Given the description of an element on the screen output the (x, y) to click on. 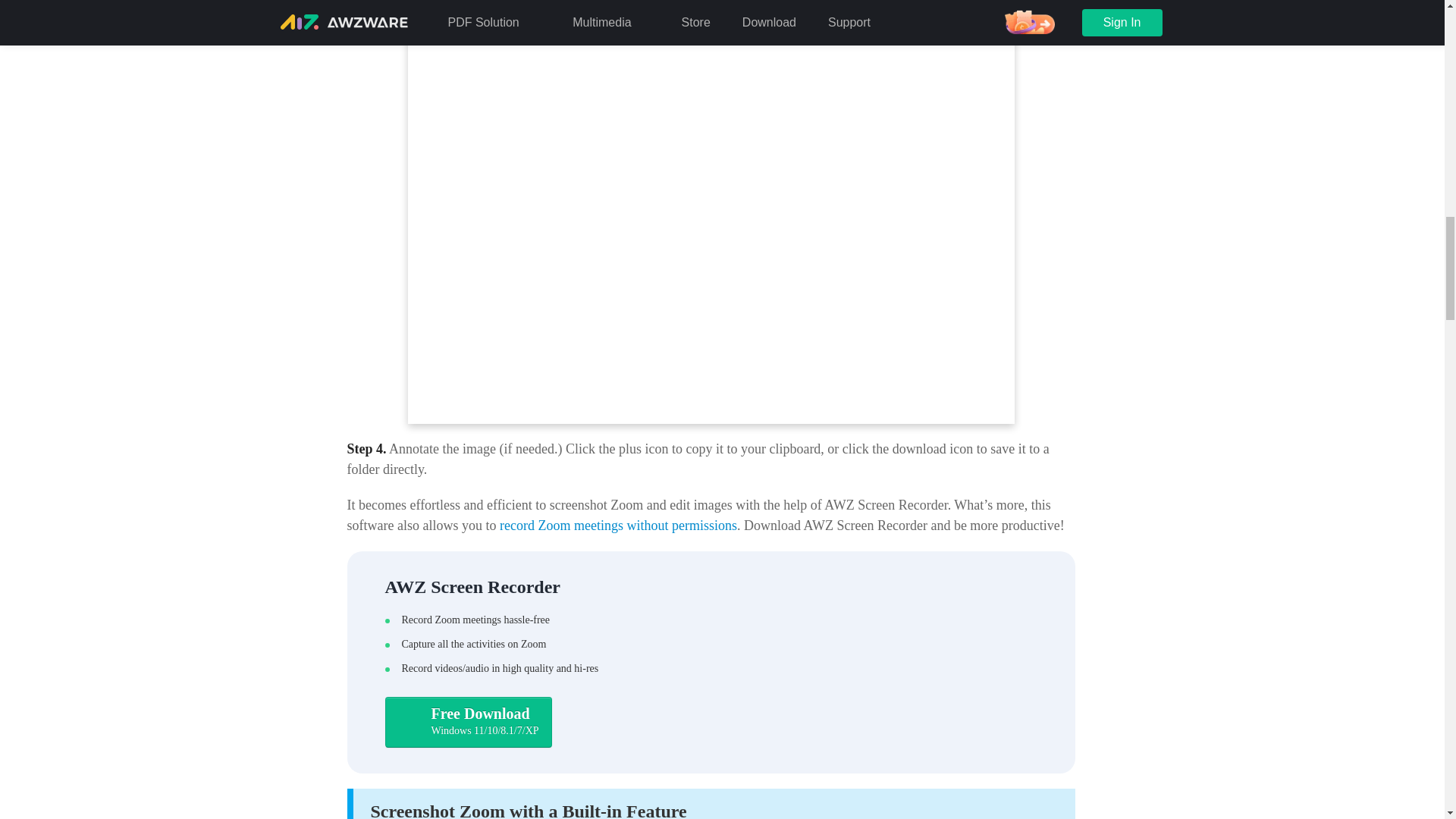
record Zoom meetings without permissions (617, 525)
